Given the description of an element on the screen output the (x, y) to click on. 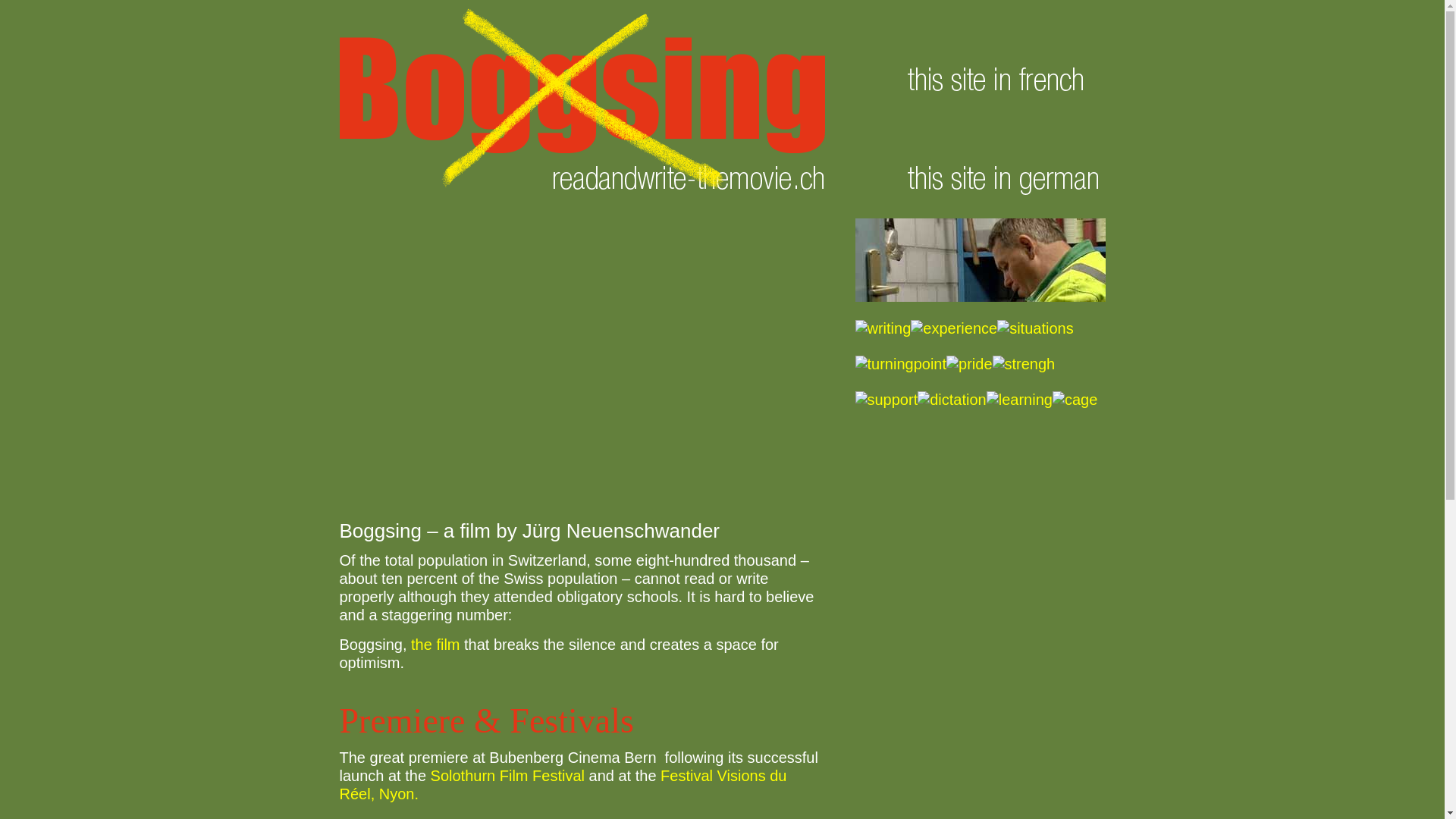
Solothurn Film Festival  Element type: text (509, 775)
the film Element type: text (435, 644)
